Given the description of an element on the screen output the (x, y) to click on. 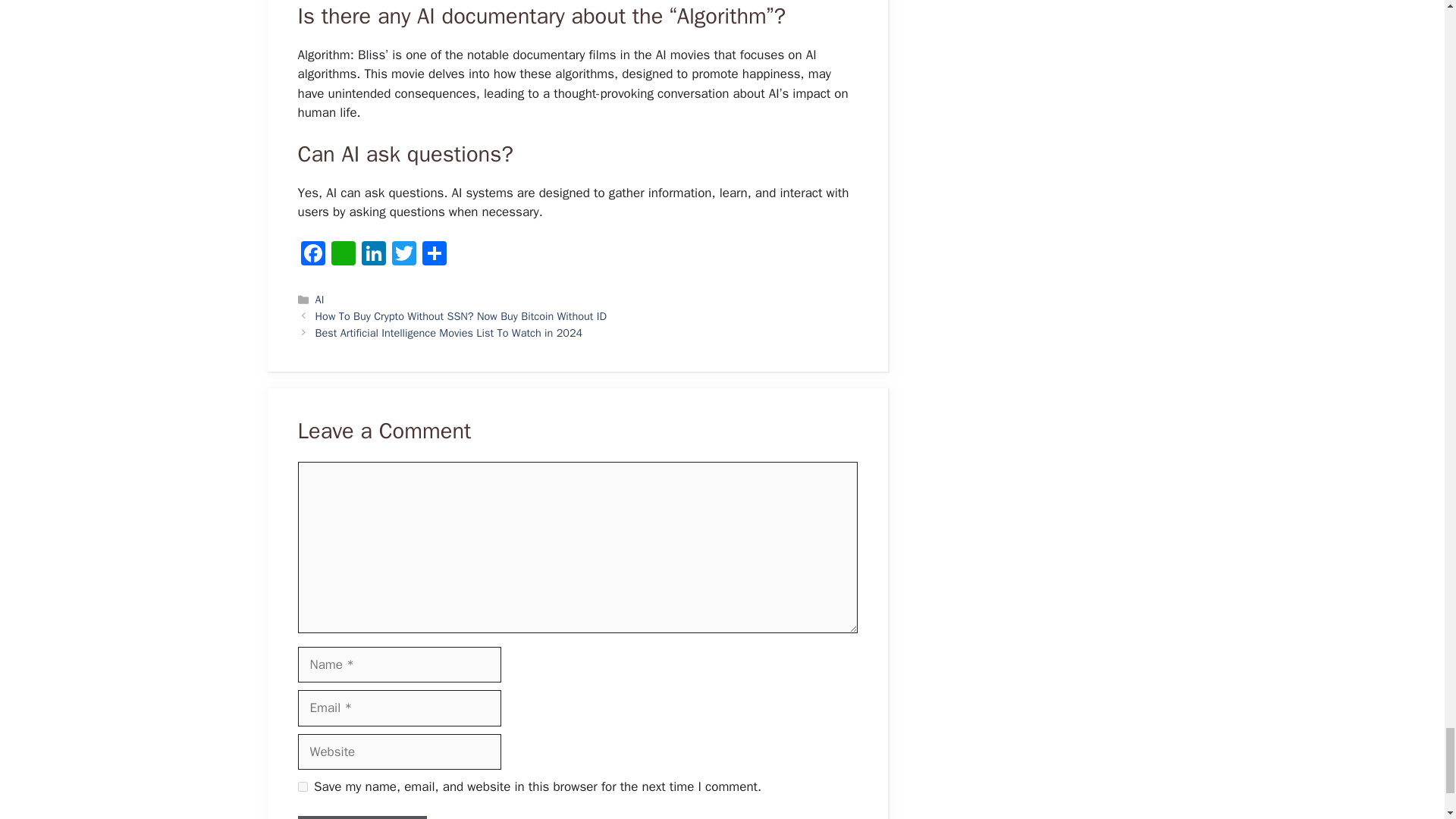
yes (302, 786)
Post Comment (361, 817)
